Given the description of an element on the screen output the (x, y) to click on. 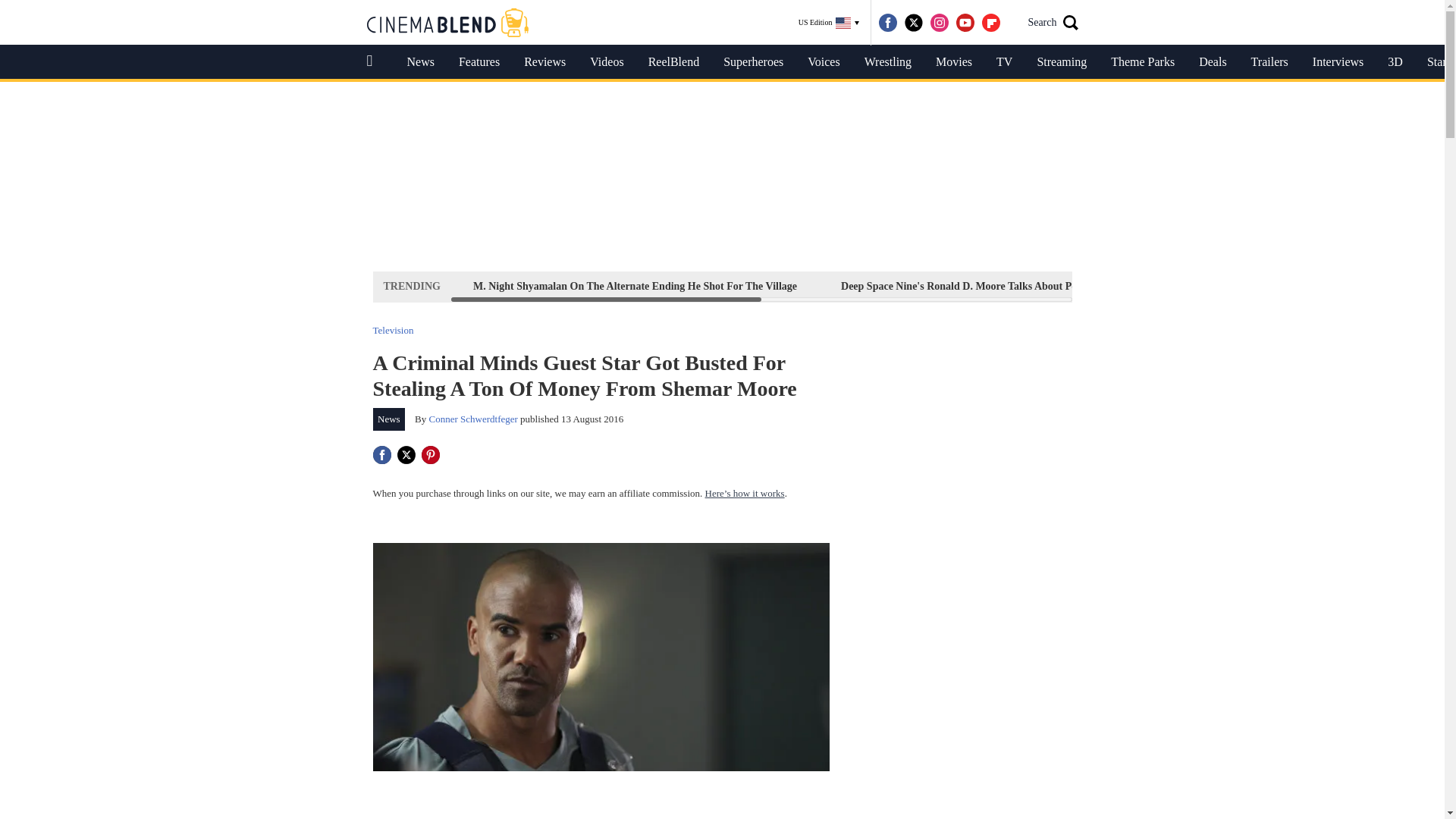
Deals (1212, 61)
Interviews (1337, 61)
TV (1004, 61)
US Edition (828, 22)
Videos (606, 61)
Voices (822, 61)
3D (1395, 61)
2024 Upcoming Movies (1297, 286)
Superheroes (752, 61)
